Given the description of an element on the screen output the (x, y) to click on. 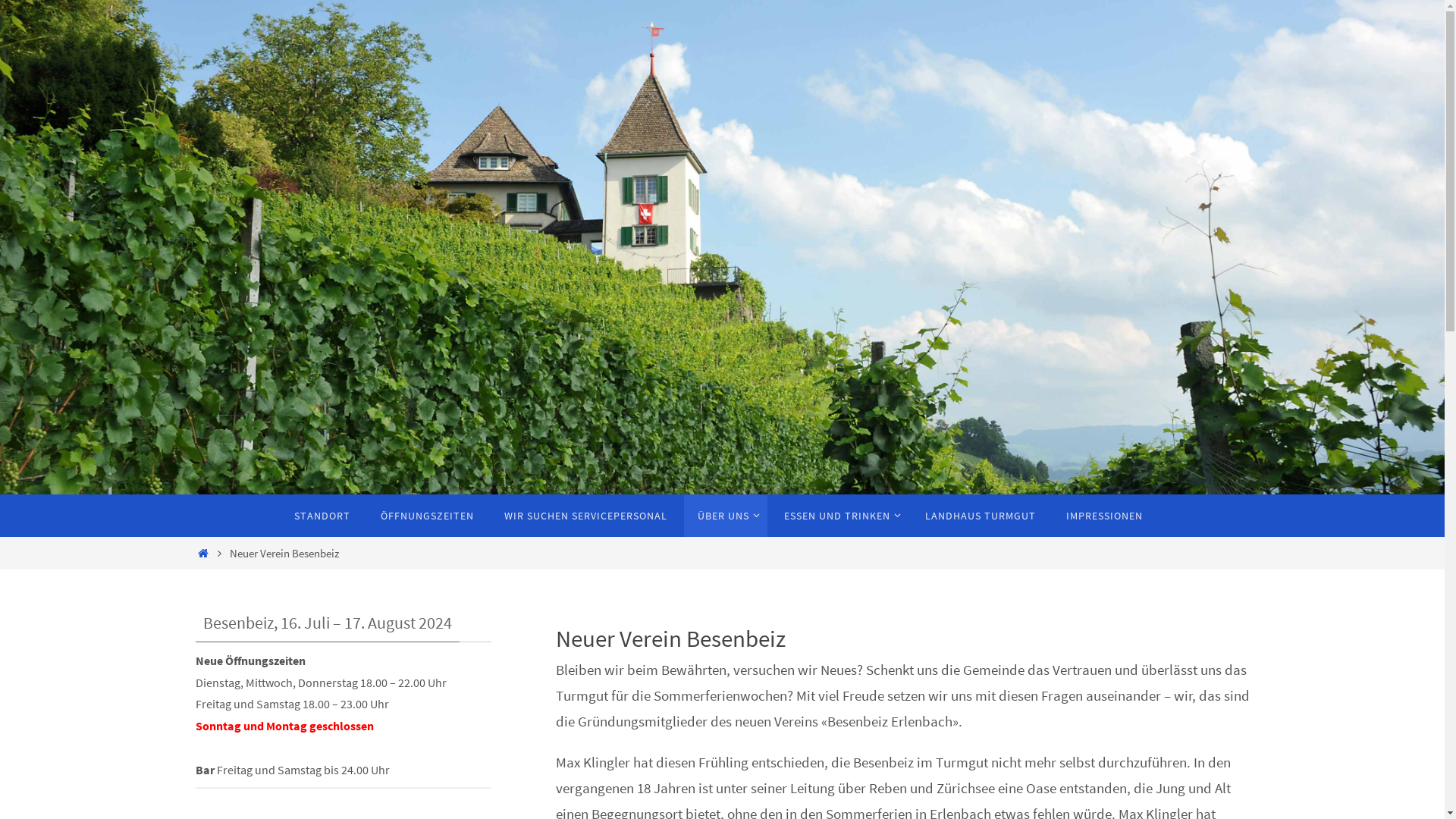
IMPRESSIONEN Element type: text (1104, 515)
ESSEN UND TRINKEN Element type: text (839, 515)
WIR SUCHEN SERVICEPERSONAL Element type: text (585, 515)
Home Element type: text (203, 553)
Besenbeiz Erlenbach ZH Element type: hover (722, 247)
LANDHAUS TURMGUT Element type: text (980, 515)
STANDORT Element type: text (322, 515)
